Given the description of an element on the screen output the (x, y) to click on. 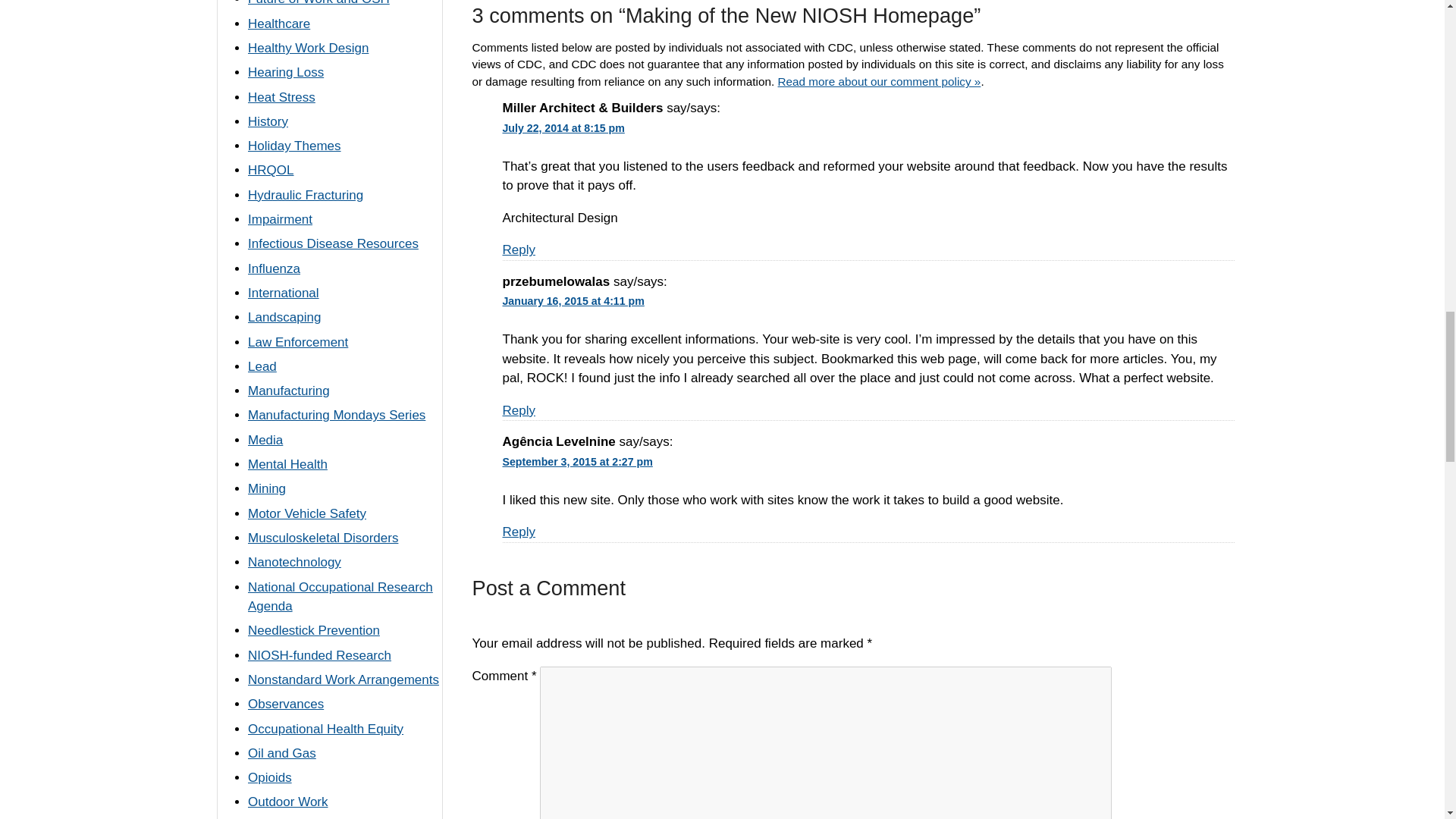
Reply (518, 531)
January 16, 2015 at 4:11 pm (576, 300)
Reply (518, 410)
Reply (518, 249)
September 3, 2015 at 2:27 pm (580, 461)
July 22, 2014 at 8:15 pm (566, 127)
